Given the description of an element on the screen output the (x, y) to click on. 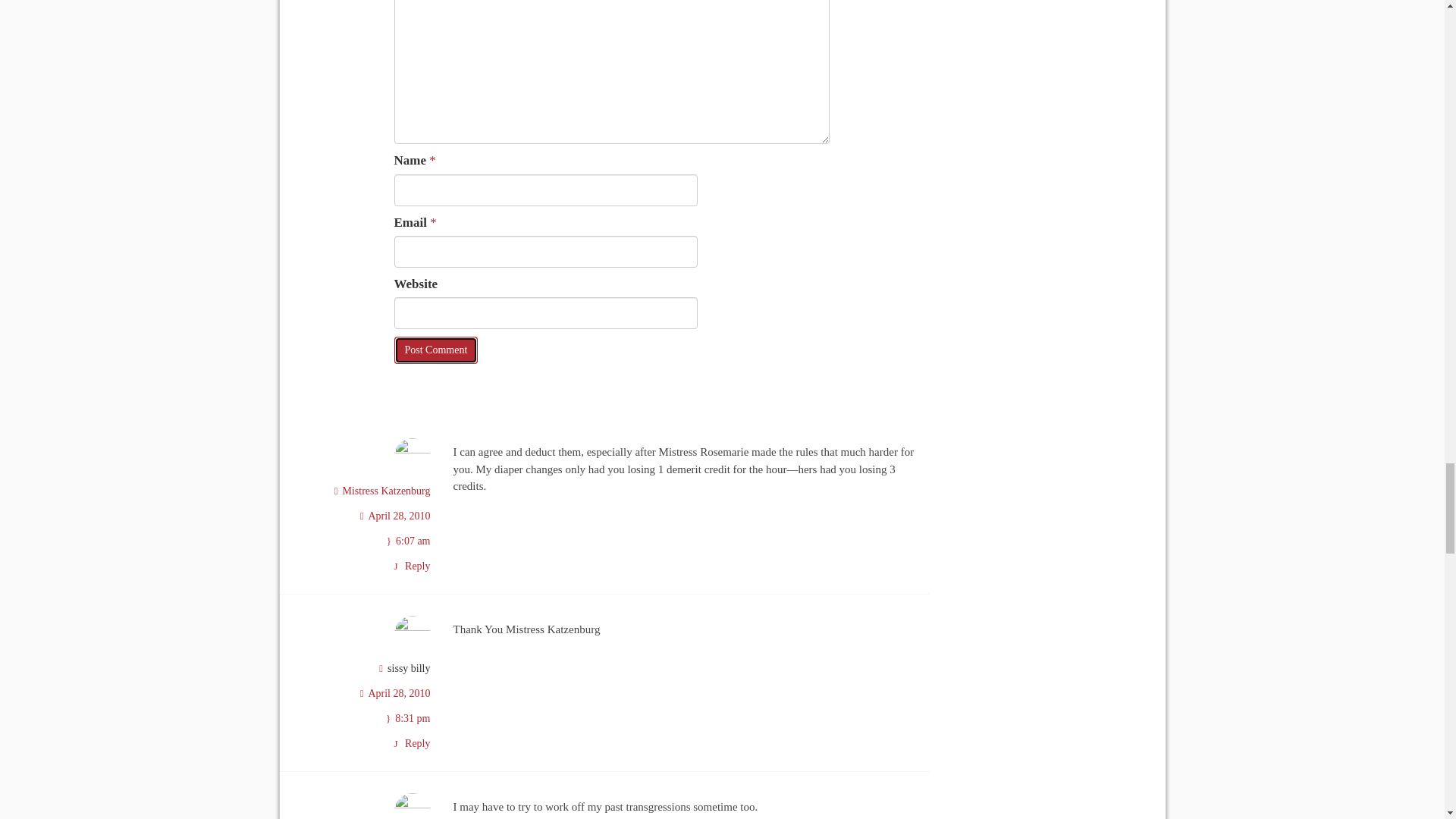
Post Comment (436, 349)
April 28, 2010 (398, 515)
Reply (411, 565)
6:07 am (413, 541)
Reply (411, 743)
Post Comment (436, 349)
8:31 pm (411, 717)
April 28, 2010 (398, 693)
Mistress Katzenburg (386, 490)
